Given the description of an element on the screen output the (x, y) to click on. 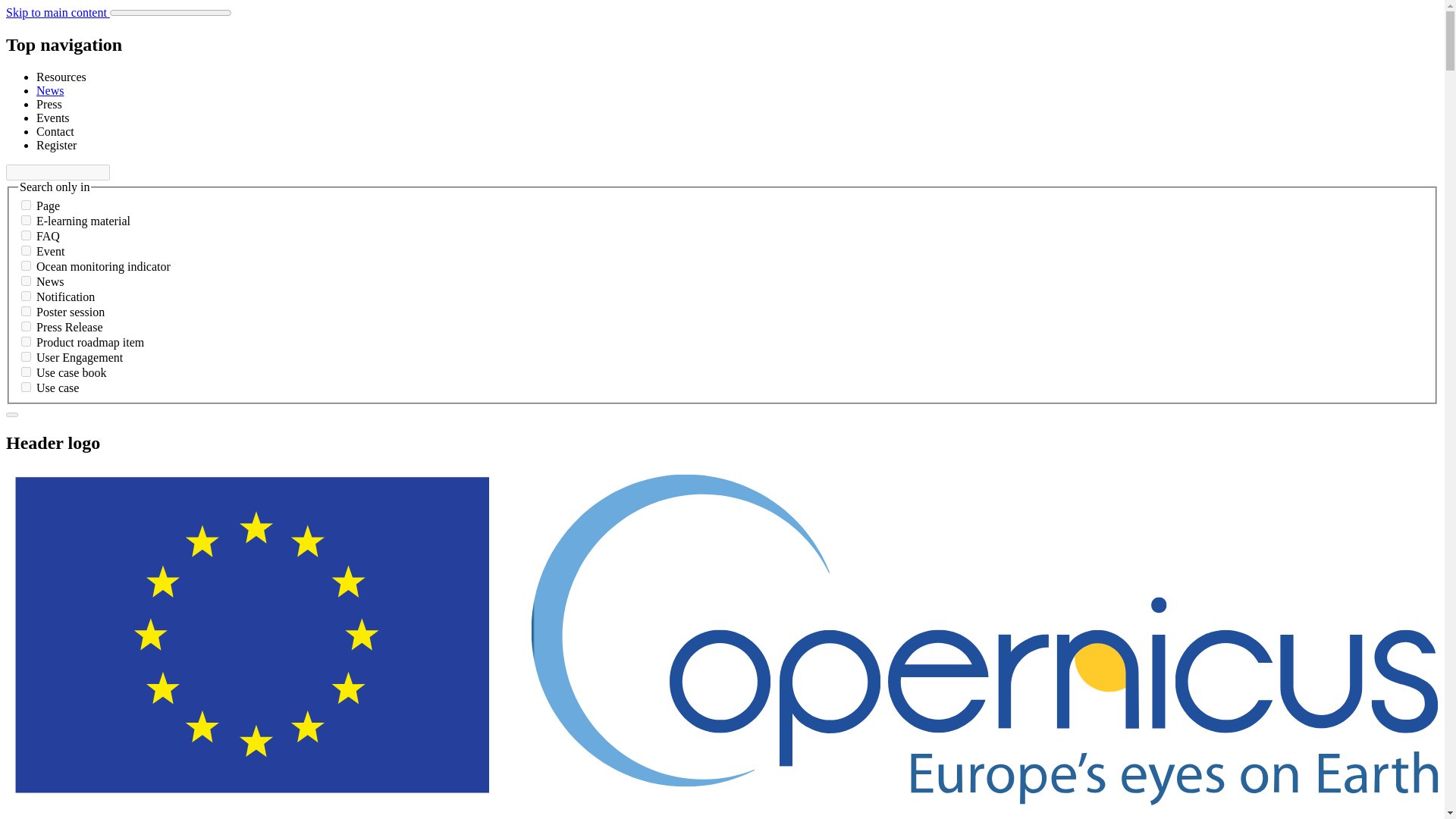
Events and trainings (52, 117)
page (25, 204)
News (50, 90)
Search (11, 414)
faq (25, 235)
Skip to main content (57, 11)
